Given the description of an element on the screen output the (x, y) to click on. 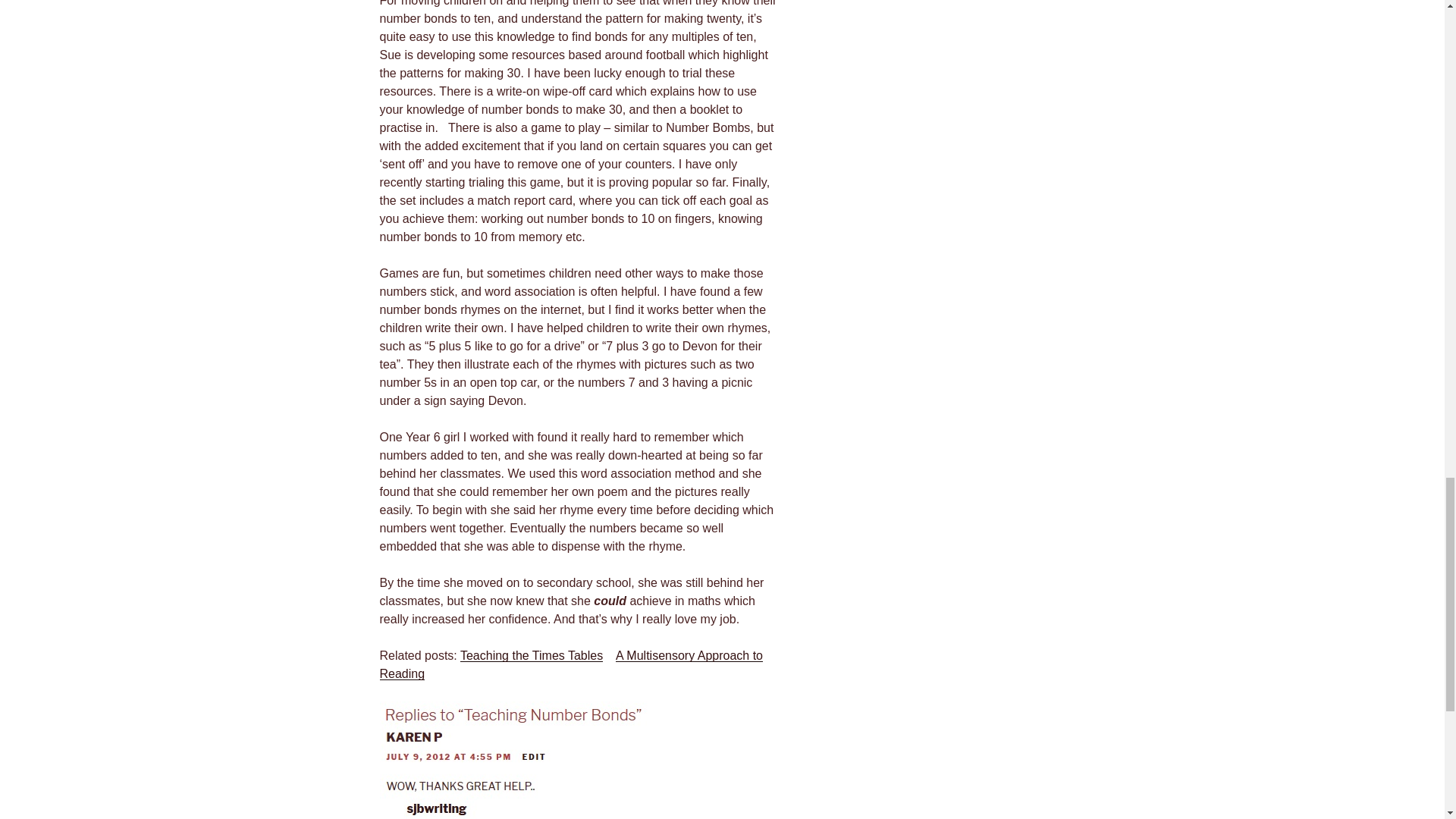
A Multisensory Approach to Reading (570, 664)
Teaching the Times Tables (531, 655)
Teaching the Times Tables (531, 655)
A Multisensory Approach to Reading (570, 664)
